Given the description of an element on the screen output the (x, y) to click on. 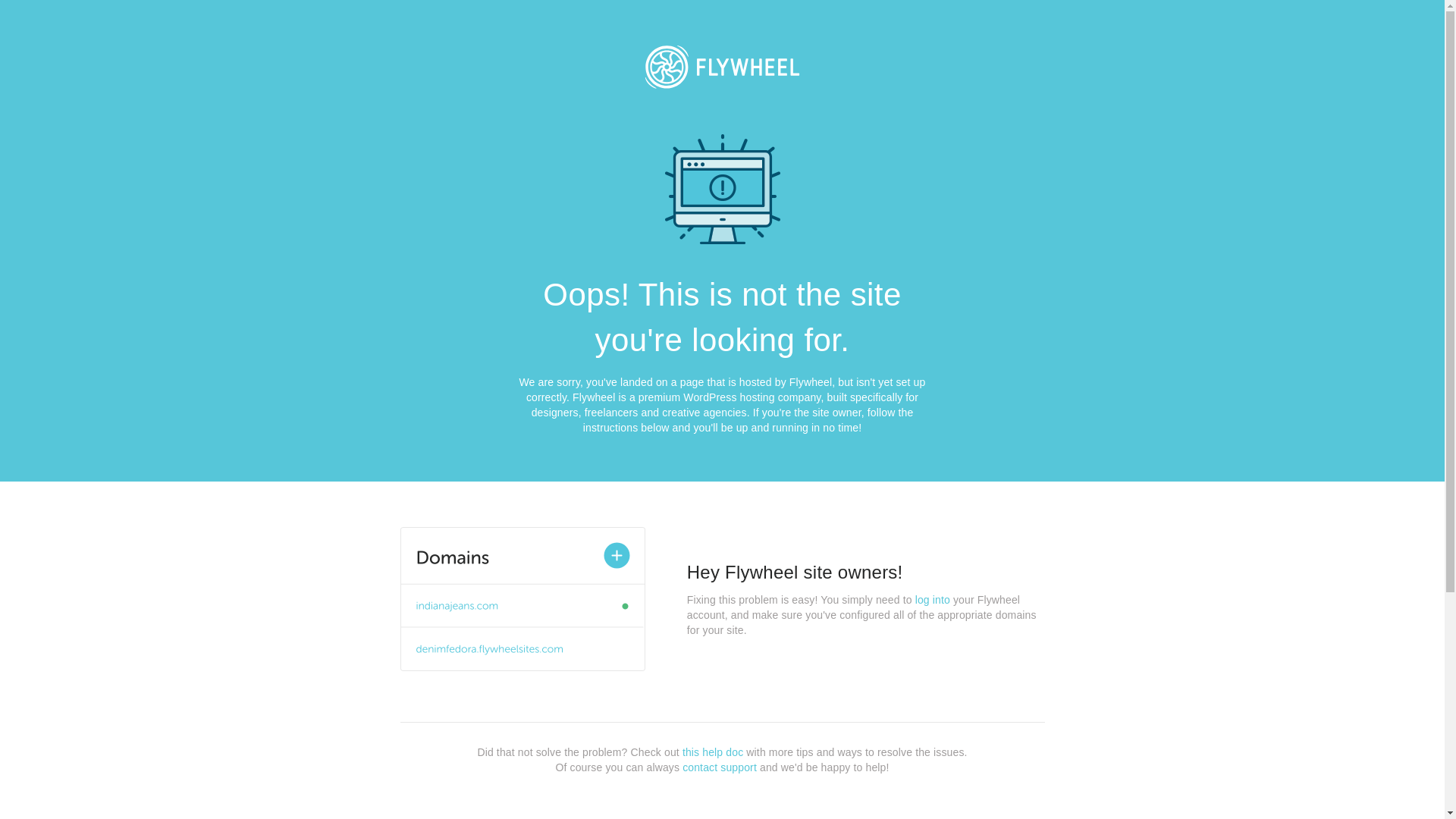
log into (932, 599)
contact support (719, 767)
this help doc (712, 752)
